Given the description of an element on the screen output the (x, y) to click on. 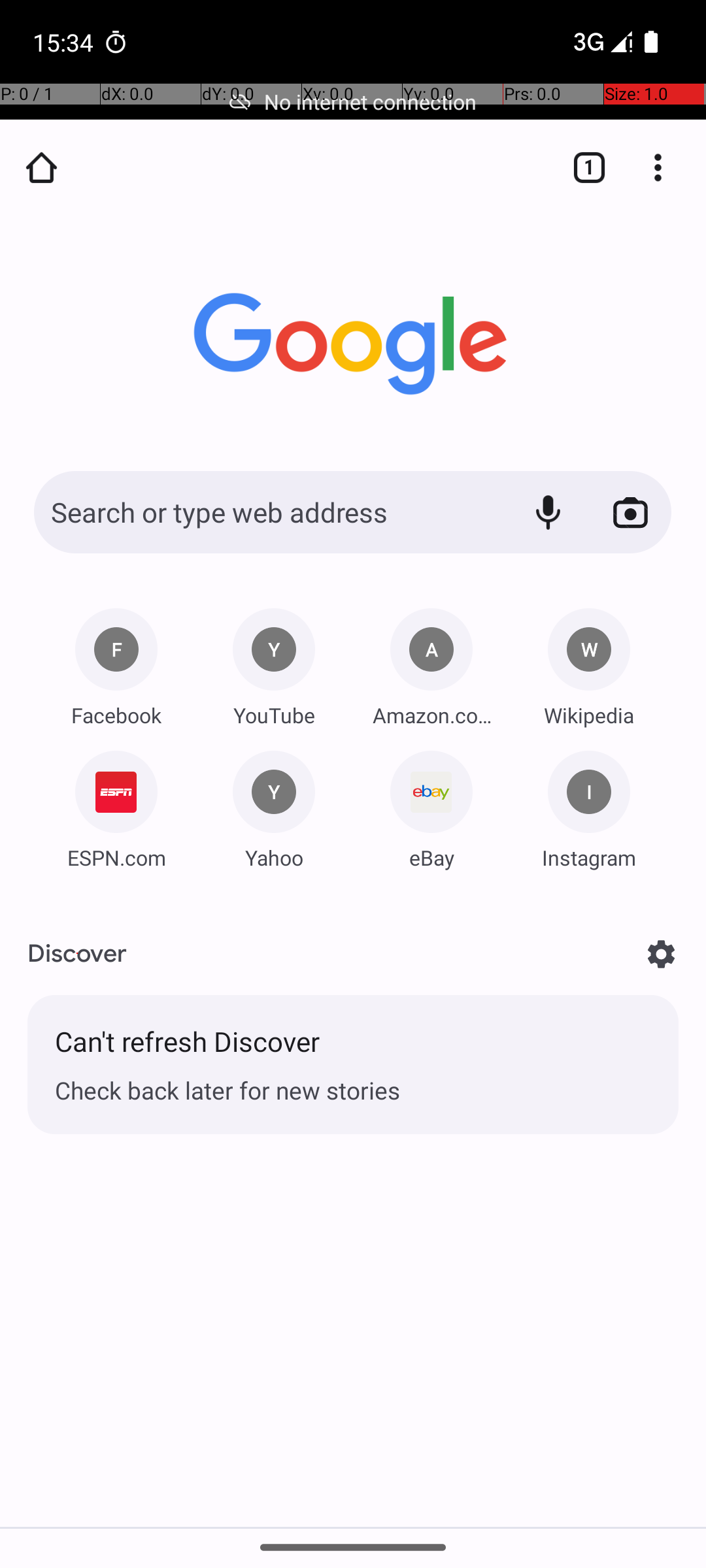
Can't refresh Discover Element type: android.widget.TextView (352, 1047)
Check back later for new stories Element type: android.widget.TextView (352, 1089)
